Given the description of an element on the screen output the (x, y) to click on. 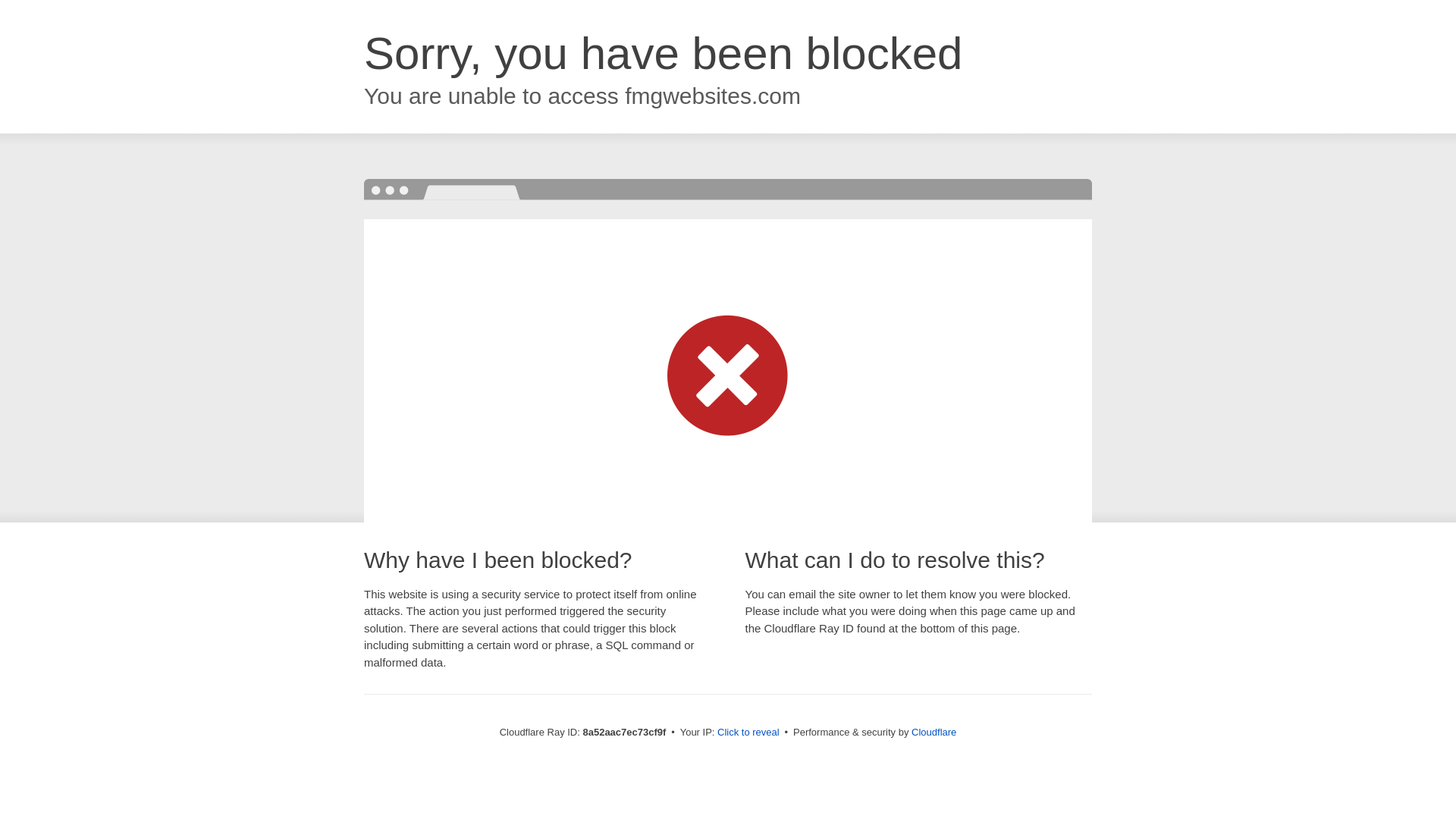
Cloudflare (933, 731)
Click to reveal (747, 732)
